Given the description of an element on the screen output the (x, y) to click on. 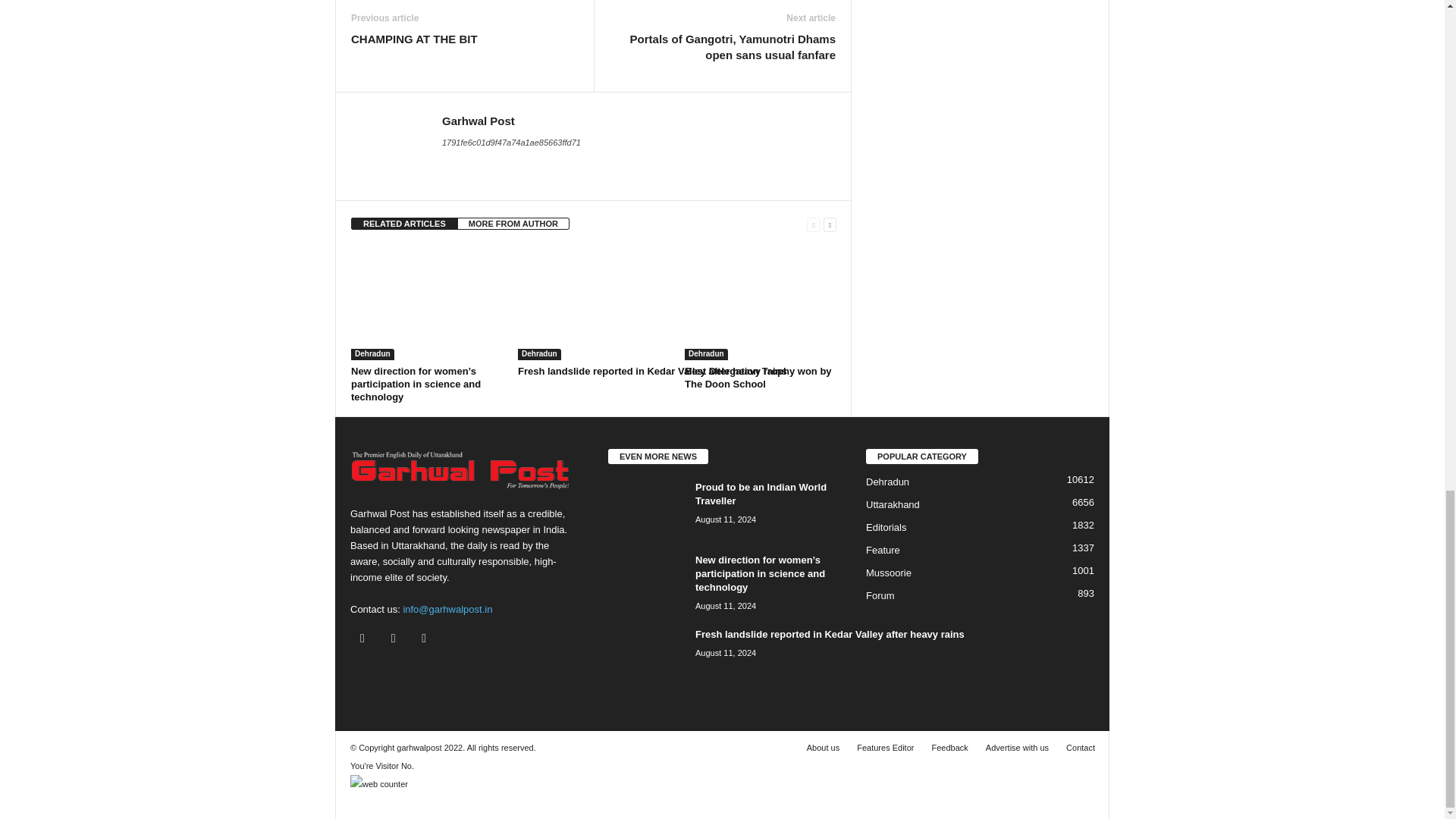
Best Delegation Trophy won by The Doon School (757, 377)
Best Delegation Trophy won by The Doon School (759, 303)
Facebook (365, 638)
